Given the description of an element on the screen output the (x, y) to click on. 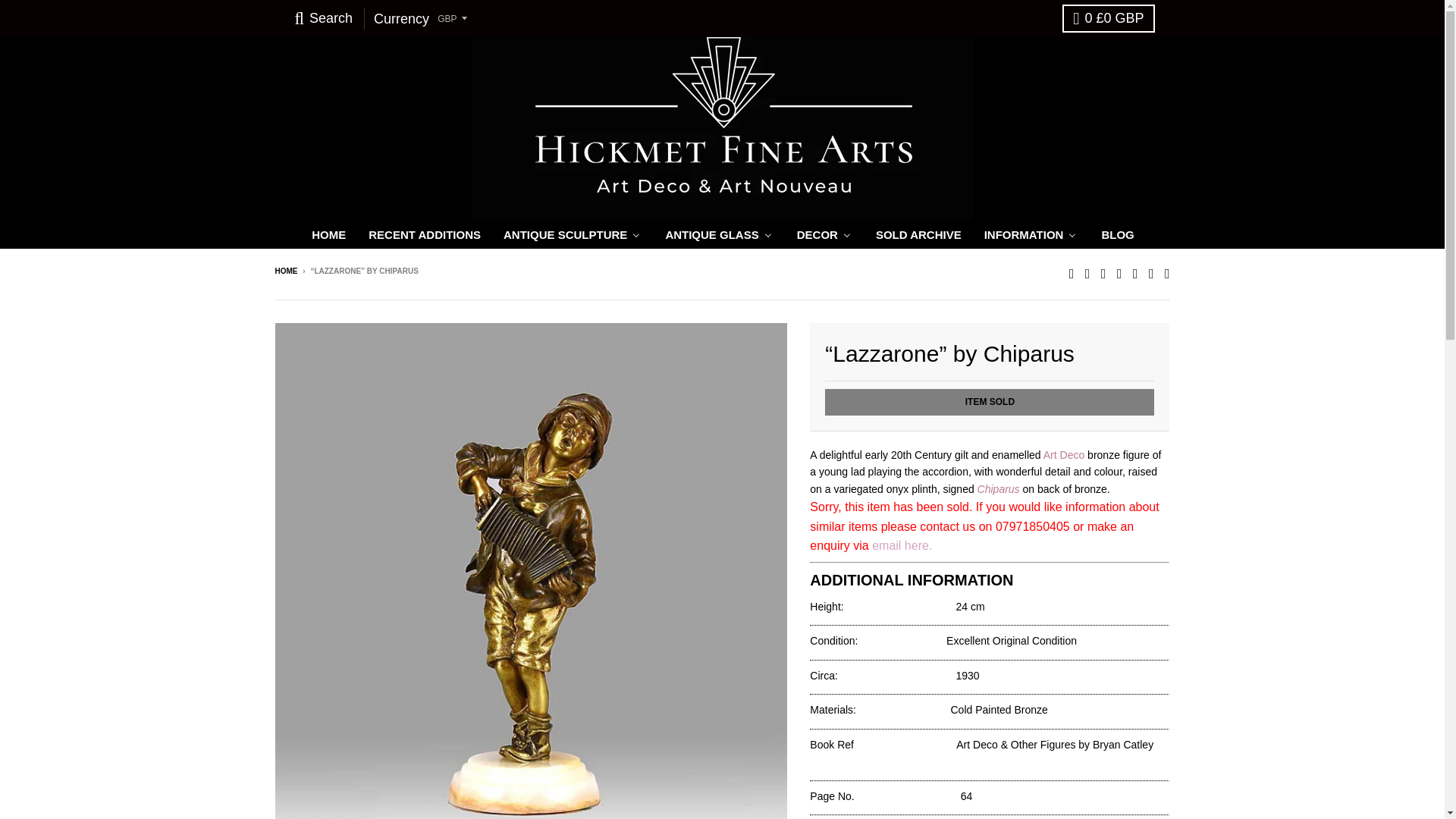
Back to the frontpage (286, 270)
Hickmet Fine Arts on LinkedIn (1167, 272)
BLOG (1116, 234)
ANTIQUE GLASS (718, 234)
Hickmet Fine Arts on Instagram (1103, 272)
DECOR (823, 234)
INFORMATION (1030, 234)
Hickmet Fine Arts on Youtube (1135, 272)
Hickmet Fine Arts on Twitter (1071, 272)
HOME (327, 234)
RECENT ADDITIONS (424, 234)
Hickmet Fine Arts on Pinterest (1119, 272)
Hickmet Fine Arts on Google Plus (1151, 272)
SOLD ARCHIVE (917, 234)
ANTIQUE SCULPTURE (572, 234)
